Given the description of an element on the screen output the (x, y) to click on. 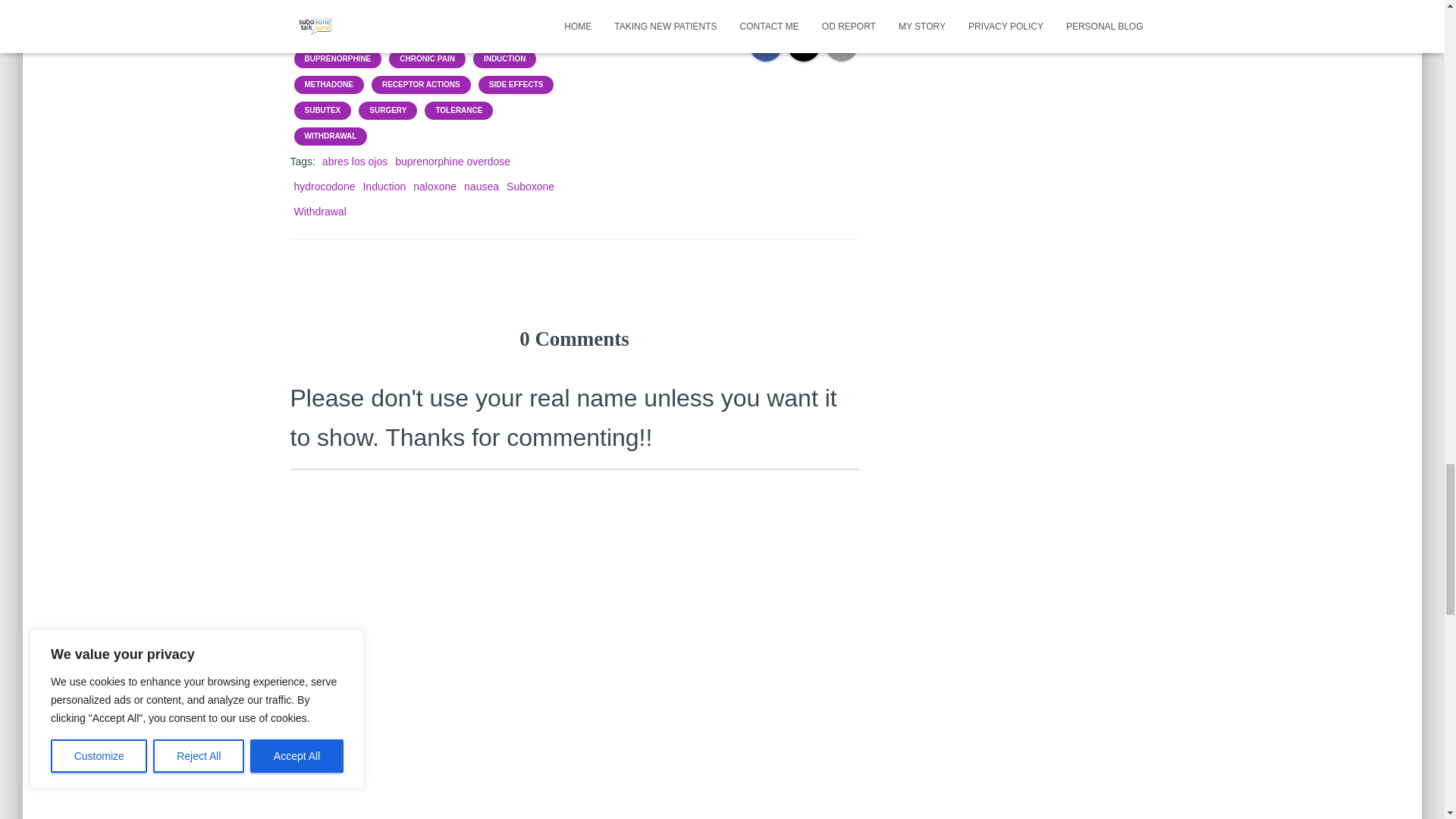
12 STEPS (378, 32)
ADDICTION (447, 32)
BUPRENORPHINE (337, 59)
